Given the description of an element on the screen output the (x, y) to click on. 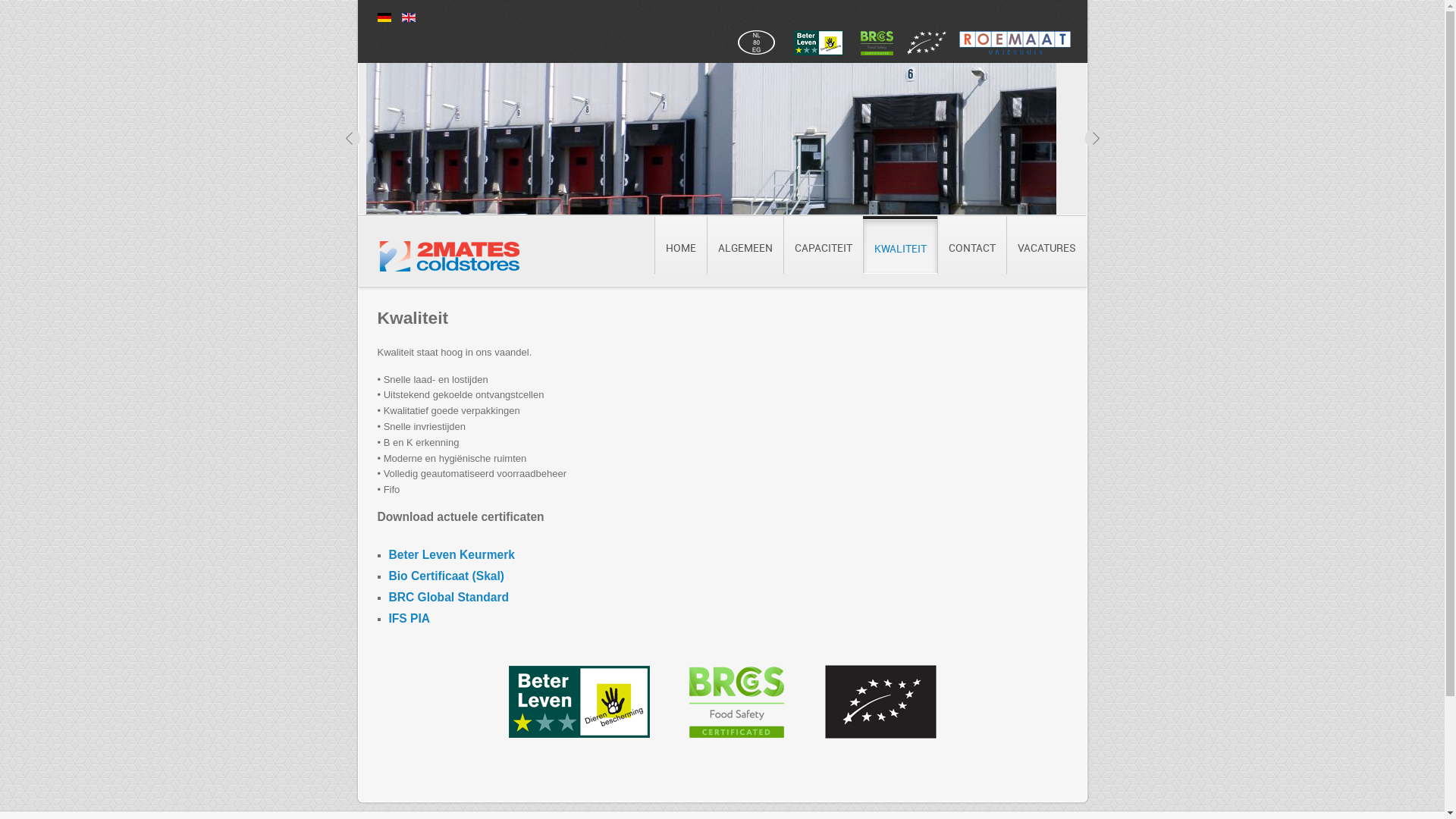
KWALITEIT Element type: text (899, 246)
Bio Certificaat (Skal) Element type: text (446, 575)
CAPACITEIT Element type: text (822, 244)
BRC Global Standard Element type: text (448, 596)
ALGEMEEN Element type: text (744, 244)
Beter Leven Keurmerk Element type: text (451, 554)
HOME Element type: text (679, 244)
CONTACT Element type: text (971, 244)
German (DE) Element type: hover (384, 16)
English (UK) Element type: hover (408, 16)
VACATURES Element type: text (1045, 244)
IFS PIA Element type: text (408, 617)
